Given the description of an element on the screen output the (x, y) to click on. 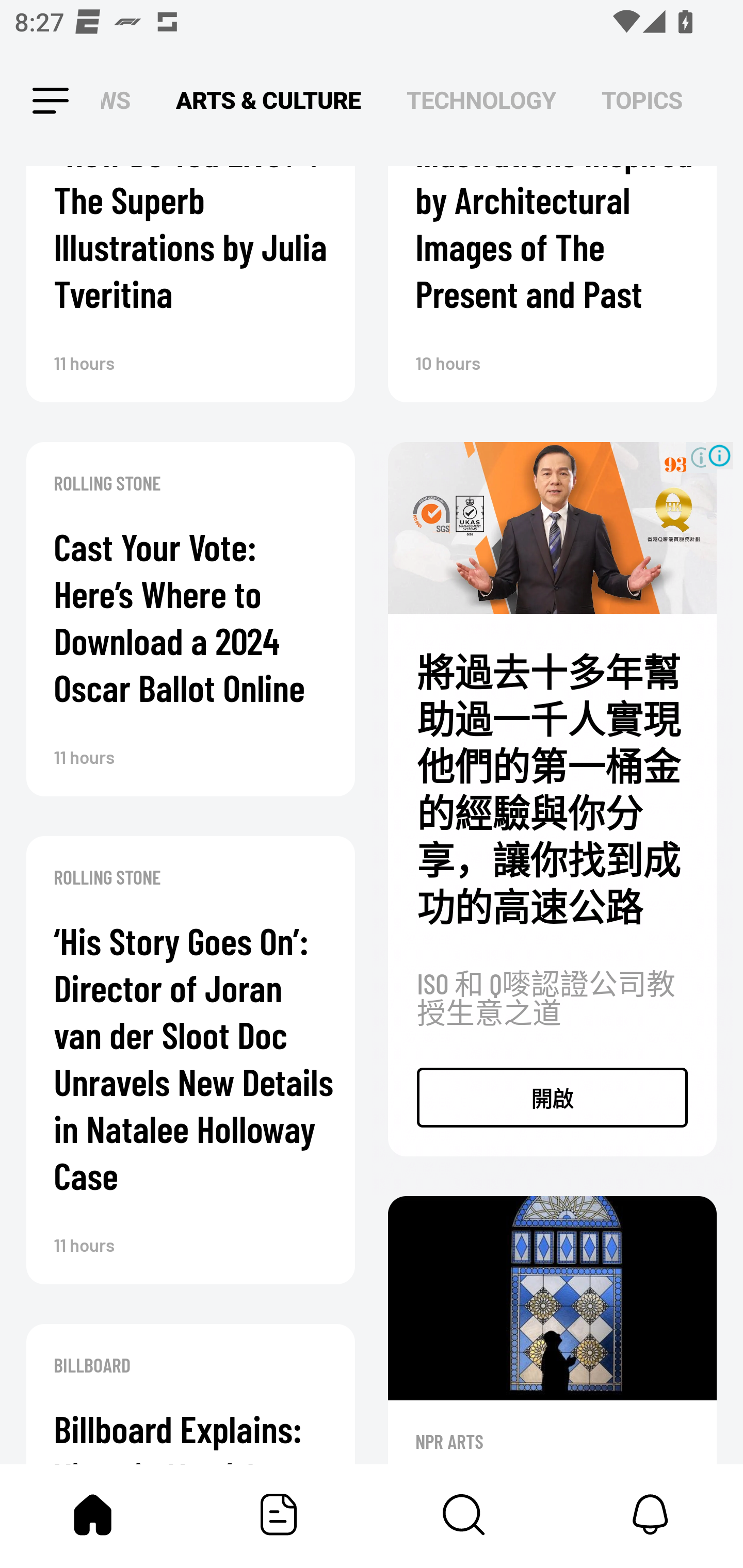
NEWS (121, 100)
TECHNOLOGY (481, 100)
TOPICS (641, 100)
Ad Choices Icon (719, 455)
Featured (278, 1514)
Content Store (464, 1514)
Notifications (650, 1514)
